Given the description of an element on the screen output the (x, y) to click on. 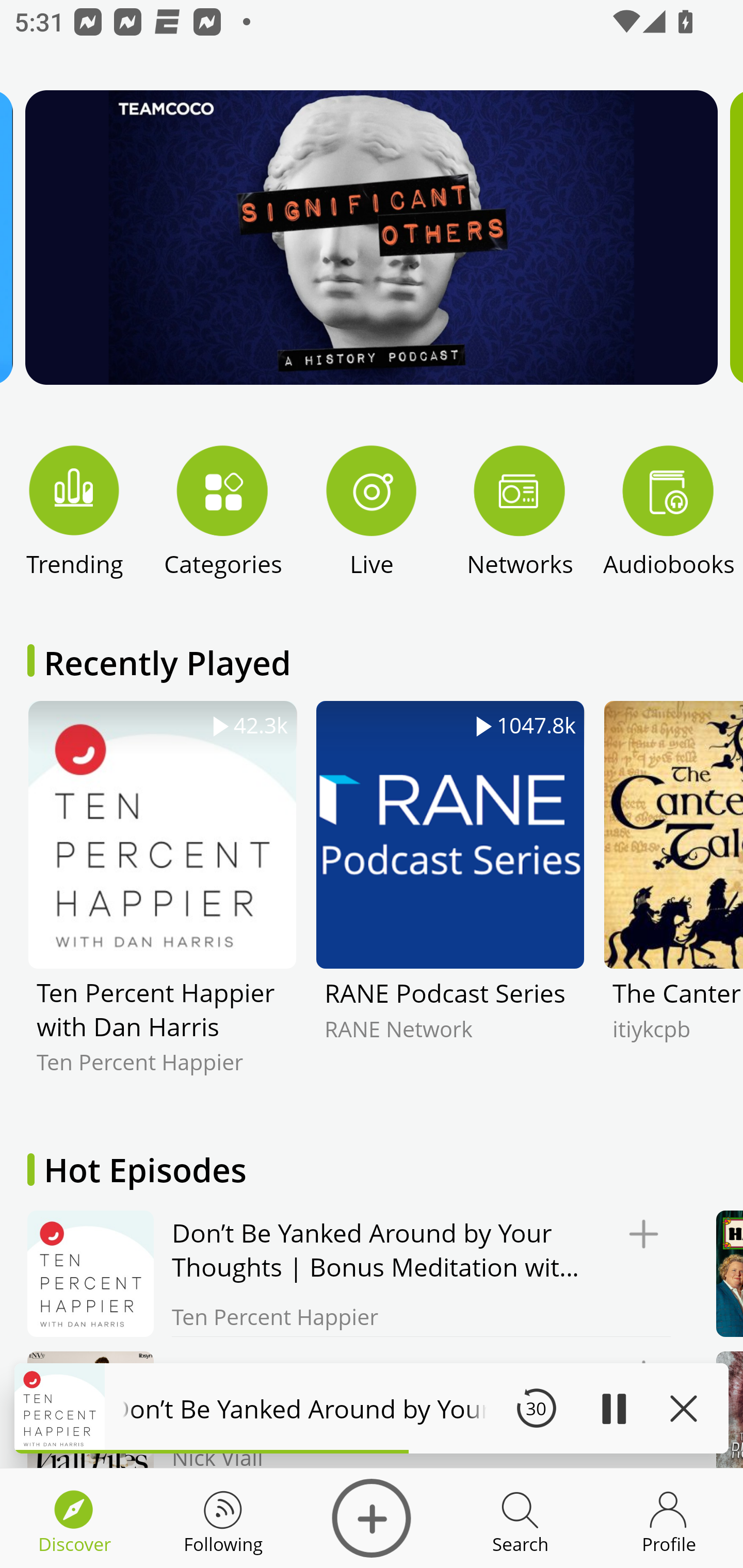
1047.8k RANE Podcast Series RANE Network (450, 902)
The Canterbury Tales itiykcpb (673, 902)
Play (613, 1407)
30 Seek Backward (536, 1407)
Discover Following (222, 1518)
Discover (371, 1518)
Discover Search (519, 1518)
Discover Profile (668, 1518)
